Given the description of an element on the screen output the (x, y) to click on. 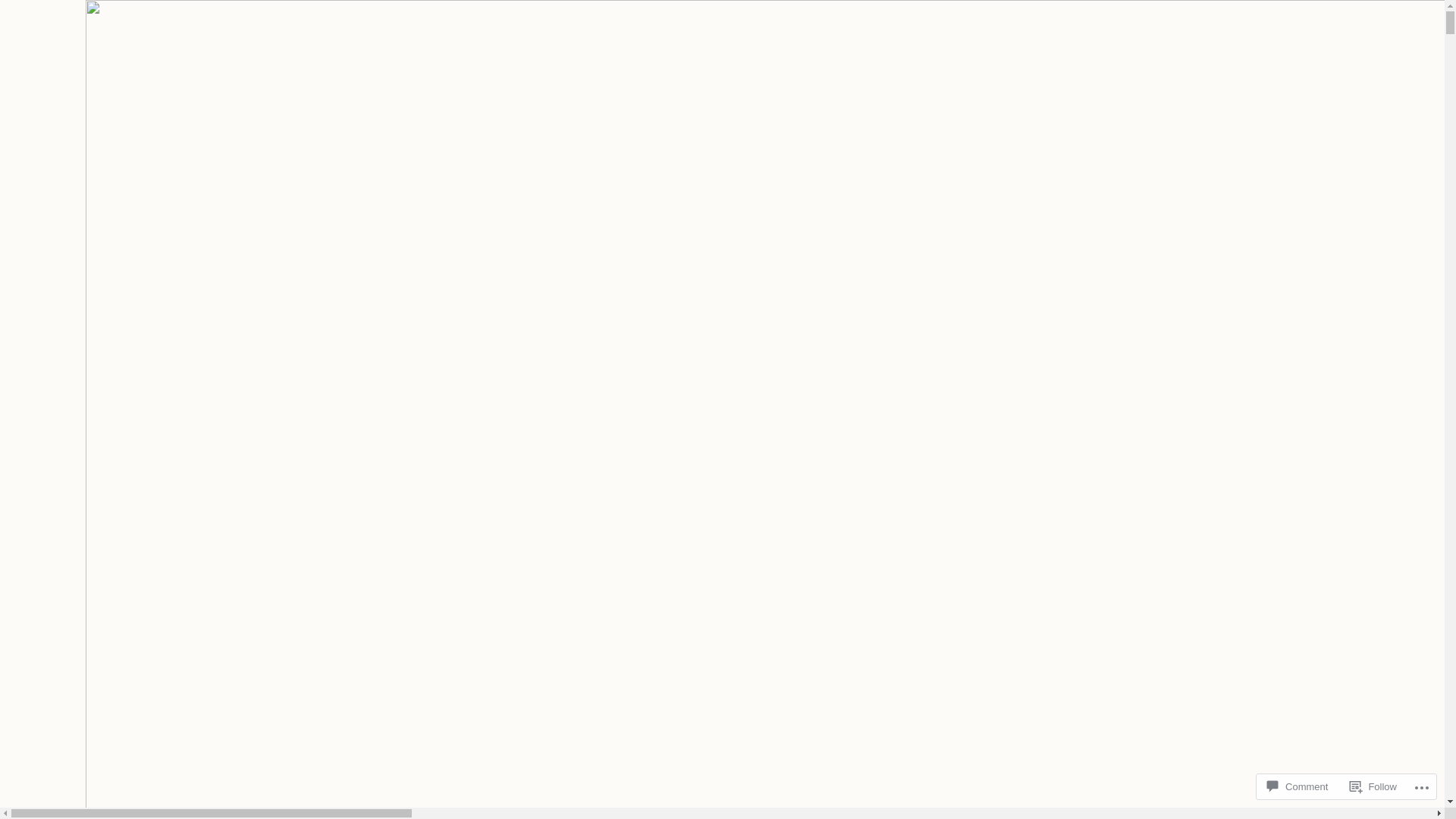
Comment Element type: text (1297, 786)
Follow Element type: text (1372, 786)
